Given the description of an element on the screen output the (x, y) to click on. 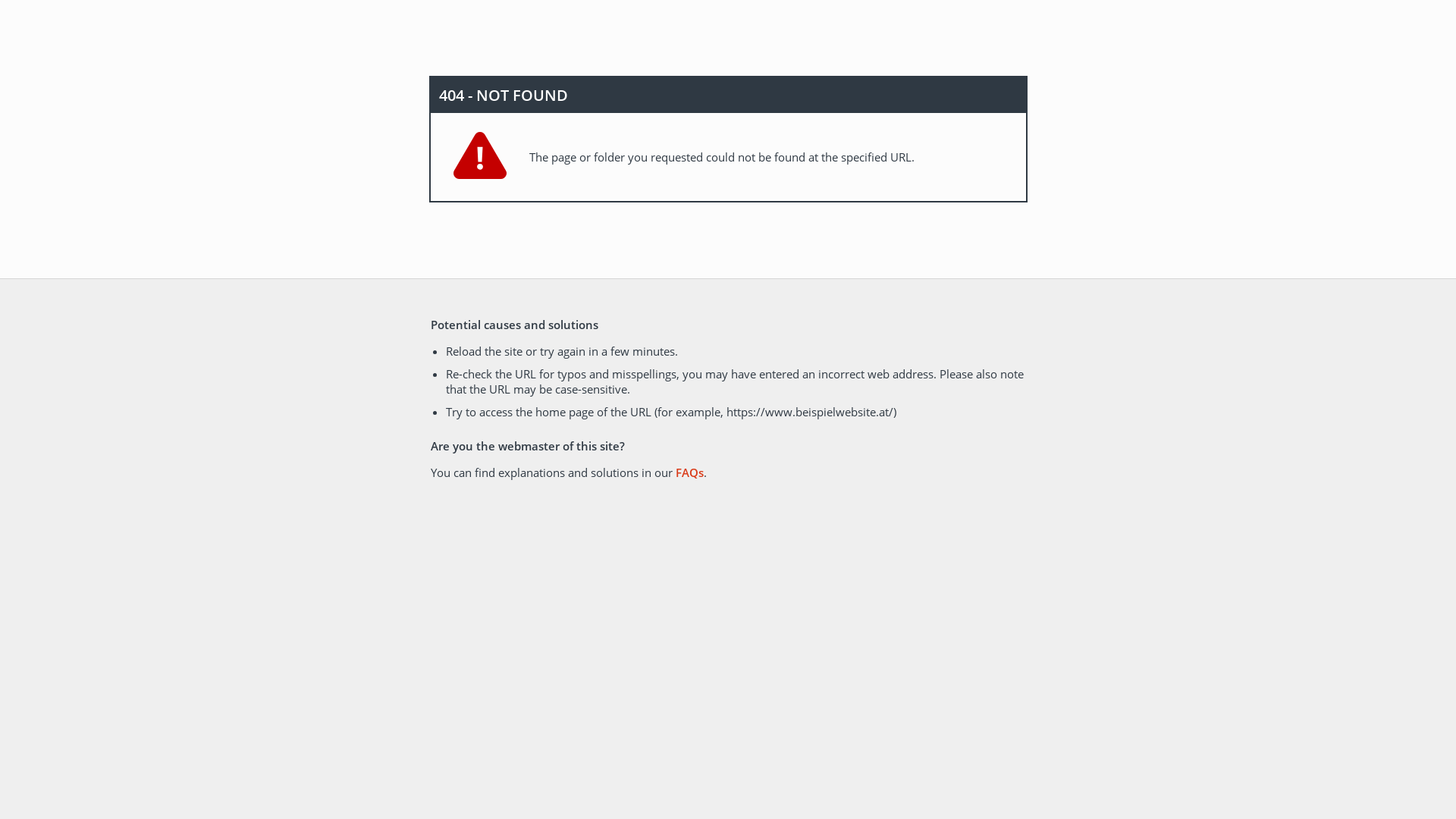
FAQs Element type: text (688, 472)
